Given the description of an element on the screen output the (x, y) to click on. 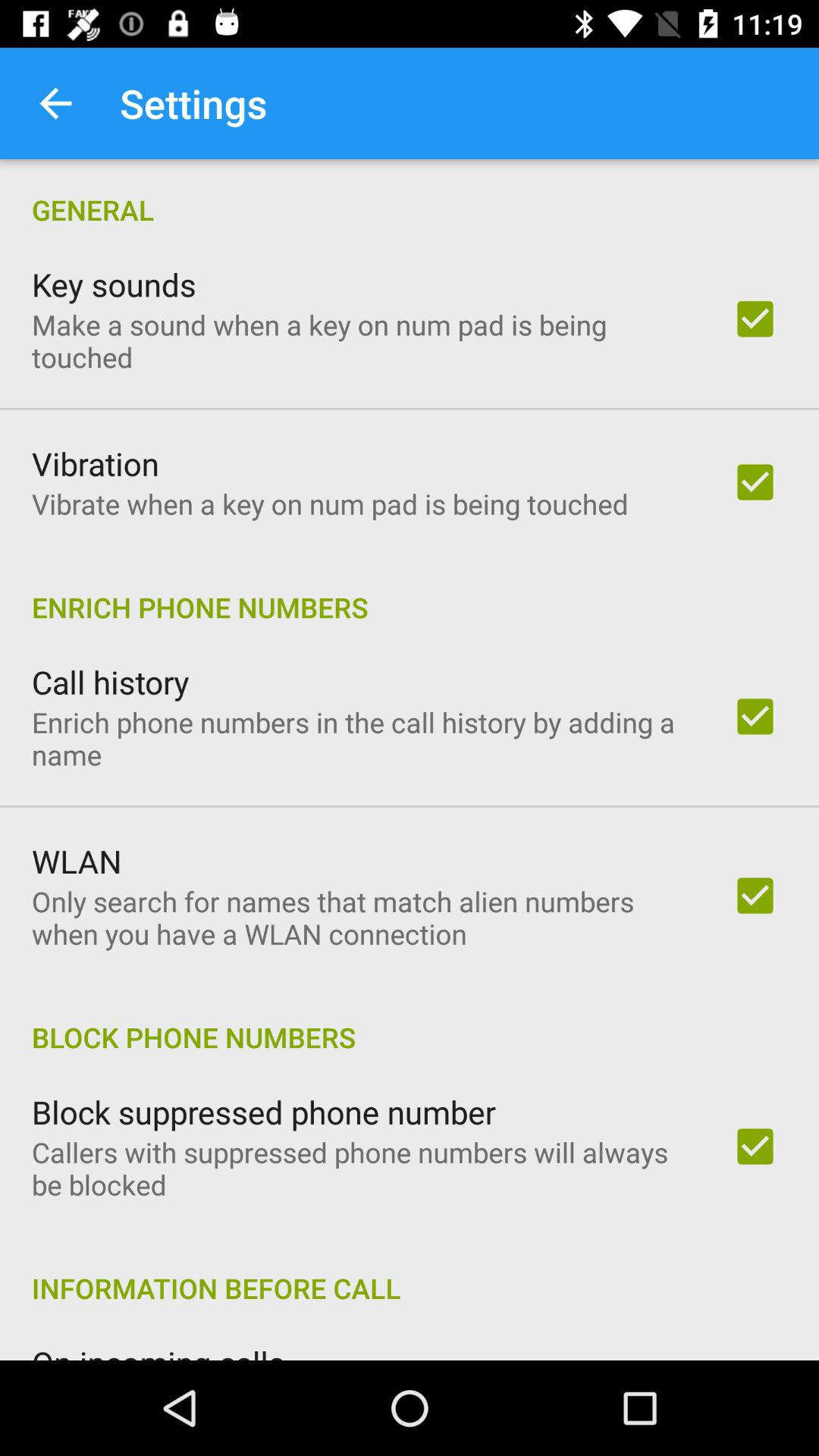
turn on item above key sounds item (409, 193)
